Given the description of an element on the screen output the (x, y) to click on. 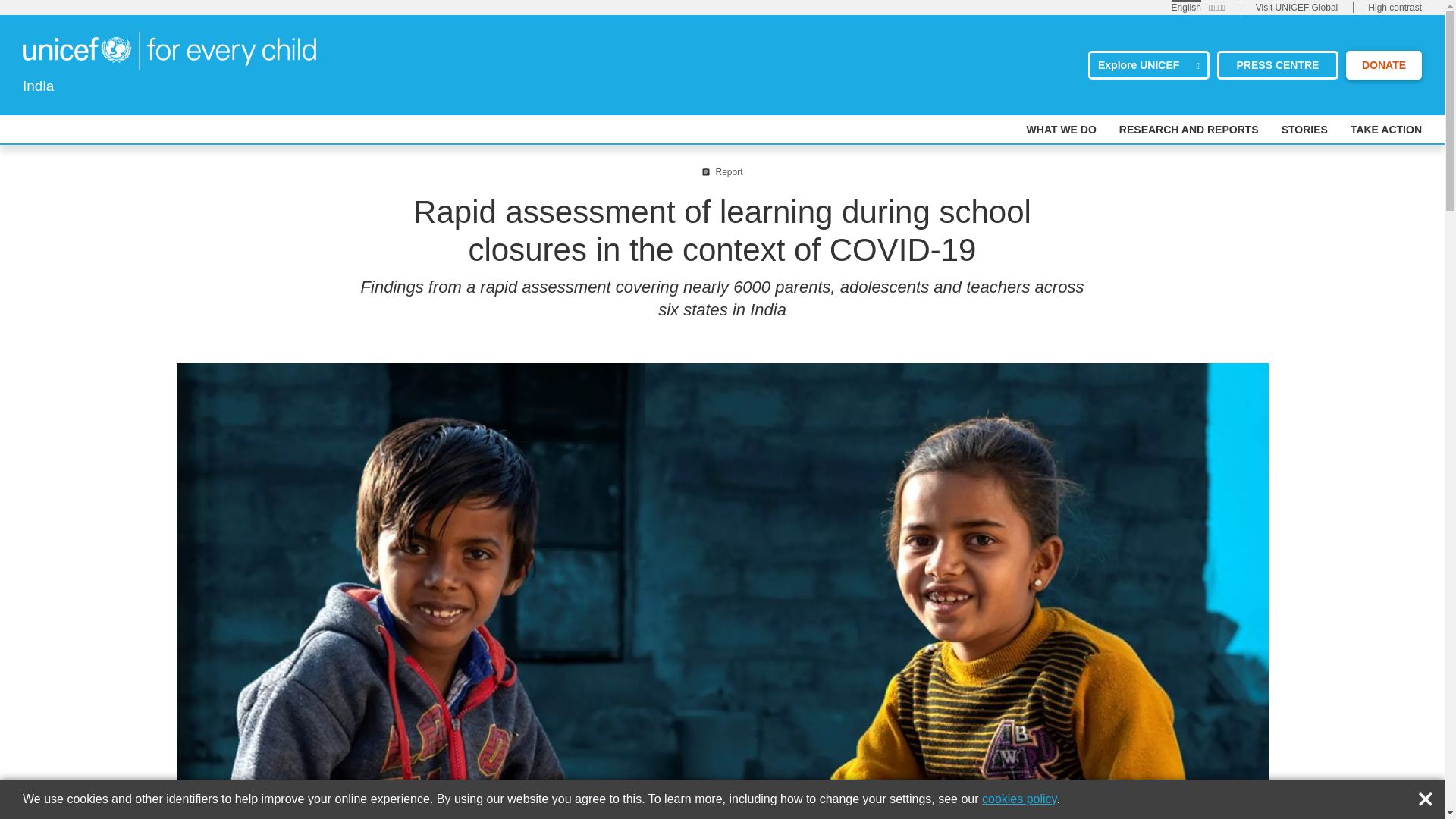
RESEARCH AND REPORTS (1189, 129)
India (169, 50)
STORIES (1304, 129)
High contrast (1395, 7)
WHAT WE DO (1061, 129)
English (1186, 6)
Ok (1428, 794)
UNICEF (169, 49)
Explore UNICEF (1148, 63)
